Given the description of an element on the screen output the (x, y) to click on. 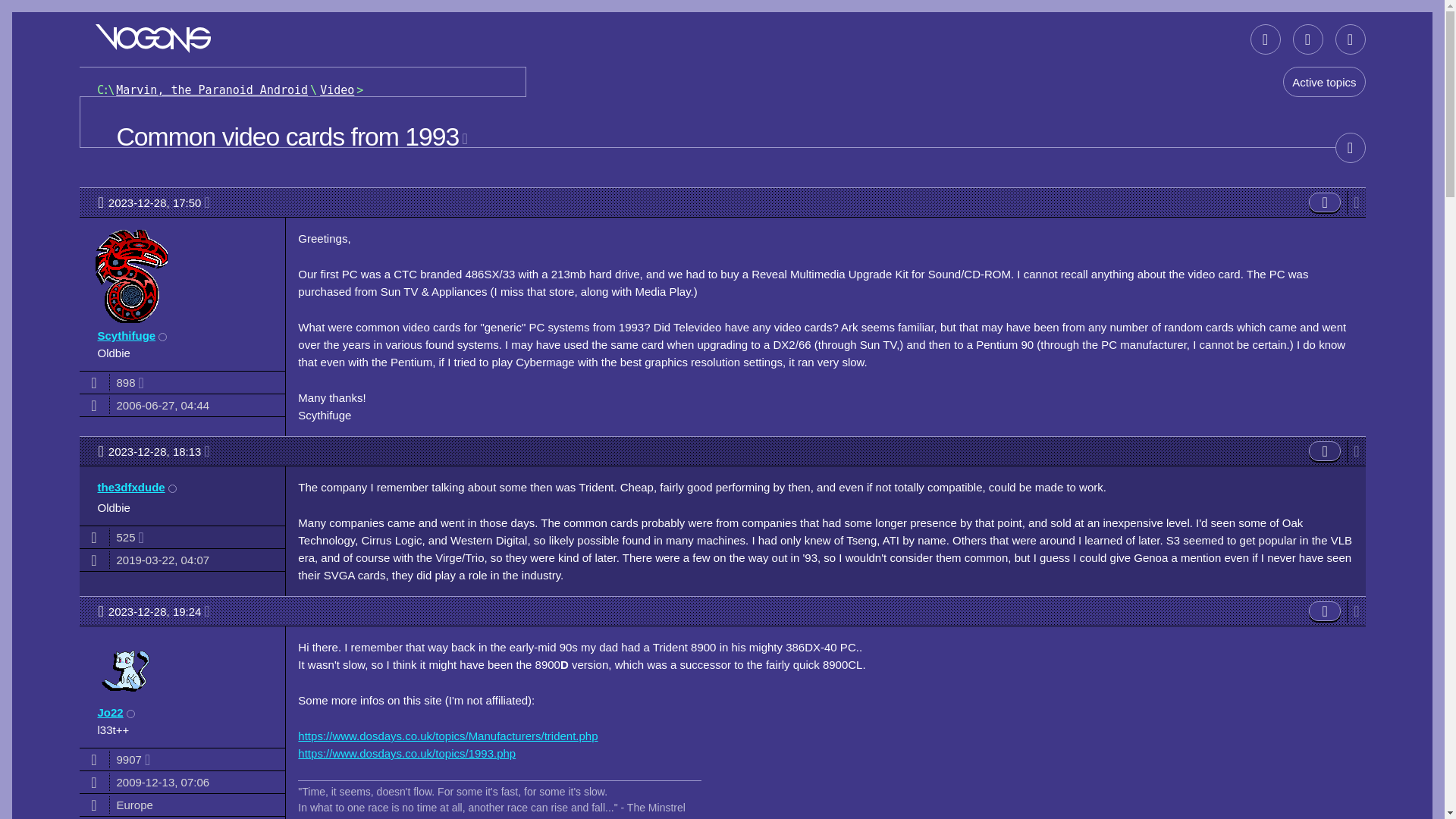
898 (134, 382)
Advanced search (1293, 39)
Search (1264, 39)
Reply with quote (1324, 610)
Login (1307, 39)
Search (1264, 39)
Video (336, 90)
Create a new account (1350, 39)
525 (159, 451)
Advanced search (134, 537)
the3dfxdude (1293, 39)
Reply with quote (130, 486)
Board index (1324, 202)
Common video cards from 1993 (153, 38)
